Given the description of an element on the screen output the (x, y) to click on. 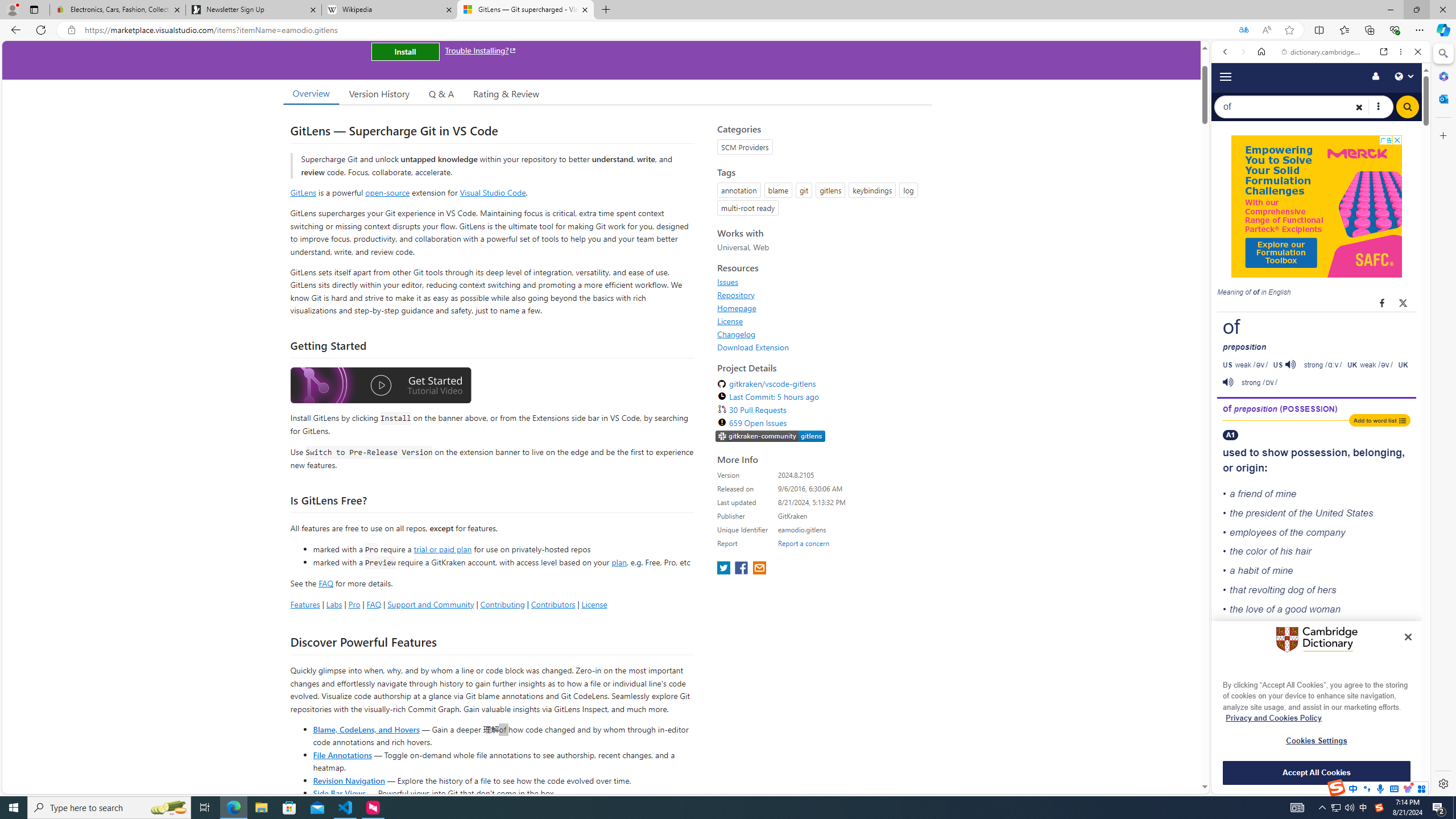
Contributing (502, 603)
plant (1359, 754)
Search Filter, VIDEOS (1300, 192)
Side Bar Views (339, 792)
Class: b_serphb (1404, 193)
share extension on facebook (742, 568)
SEARCH TOOLS (1350, 192)
OFTV - Enjoy videos from your favorite OF creators! (1315, 753)
revolting (1266, 589)
